Given the description of an element on the screen output the (x, y) to click on. 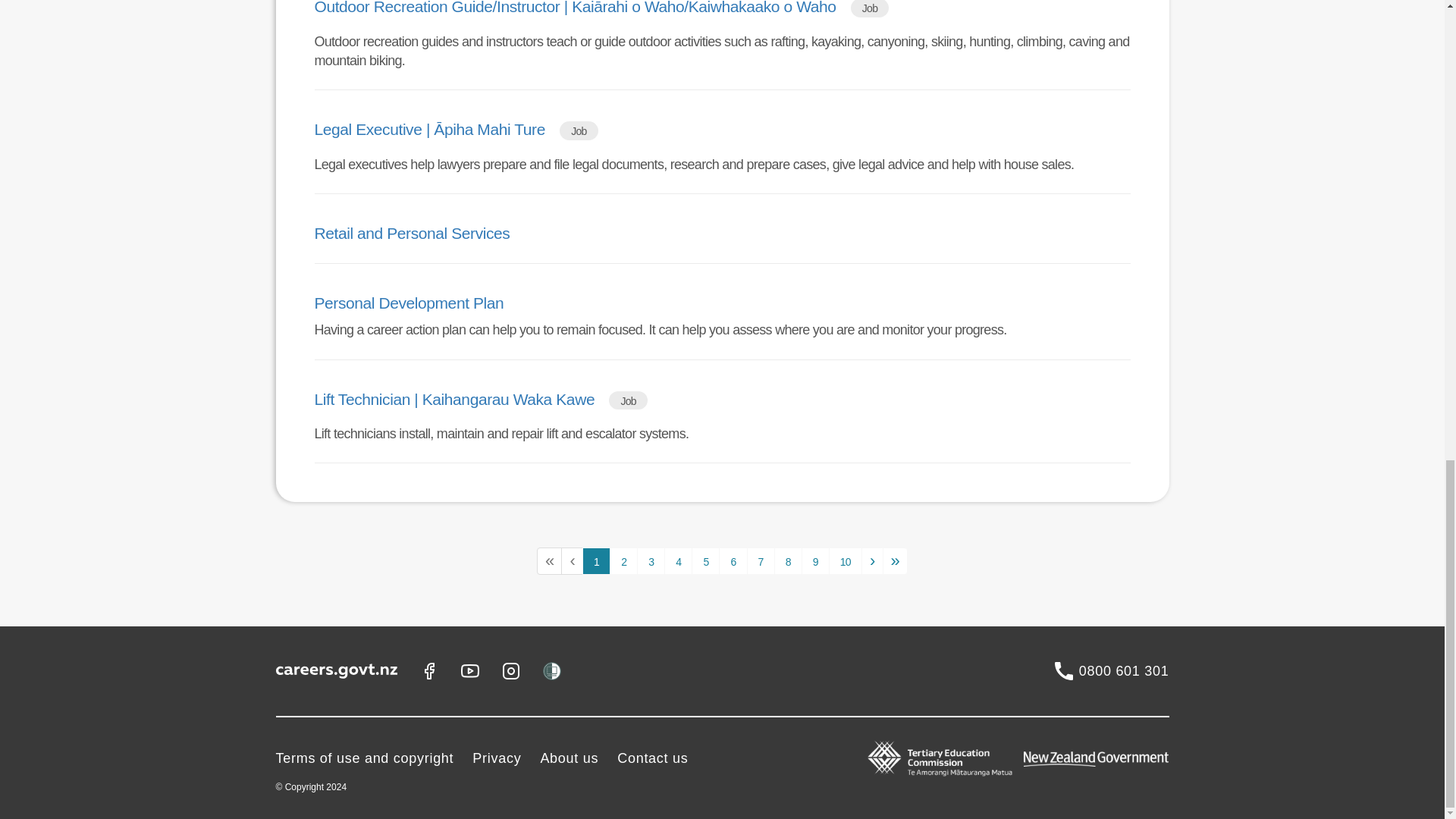
View page number 9 (815, 560)
View page number 10 (844, 560)
View page number 3 (651, 560)
View page number 2 (623, 560)
View page number 6 (732, 560)
View page number 7 (760, 560)
View page number 4 (678, 560)
View page number 5 (705, 560)
View page number 1 (596, 560)
View page number 8 (788, 560)
